Given the description of an element on the screen output the (x, y) to click on. 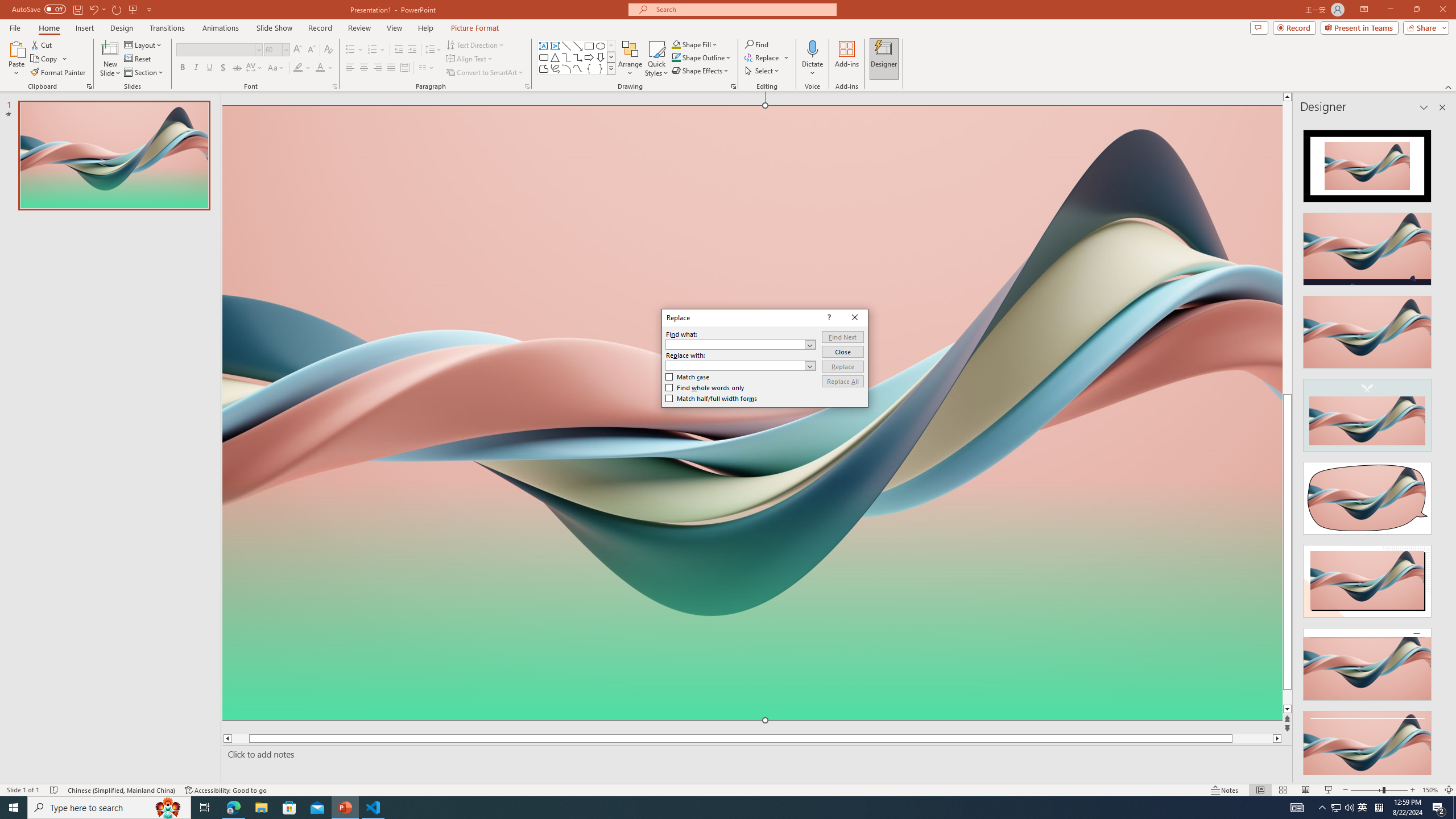
Replace with (735, 365)
